Given the description of an element on the screen output the (x, y) to click on. 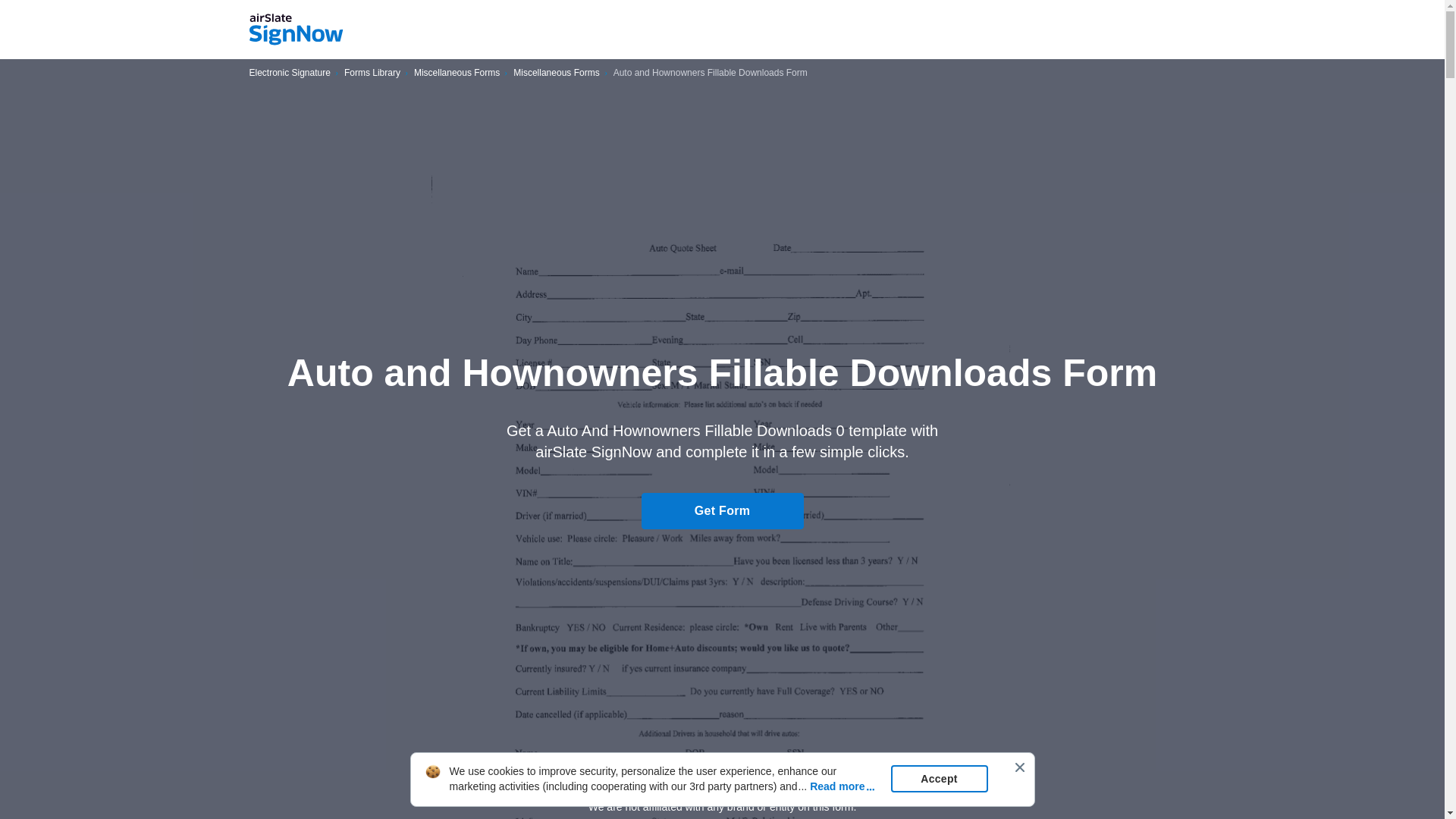
Show details (722, 780)
signNow (295, 29)
Get Form (722, 511)
Forms Library (371, 73)
Electronic Signature (289, 73)
Miscellaneous Forms (555, 73)
Miscellaneous Forms (456, 73)
